Given the description of an element on the screen output the (x, y) to click on. 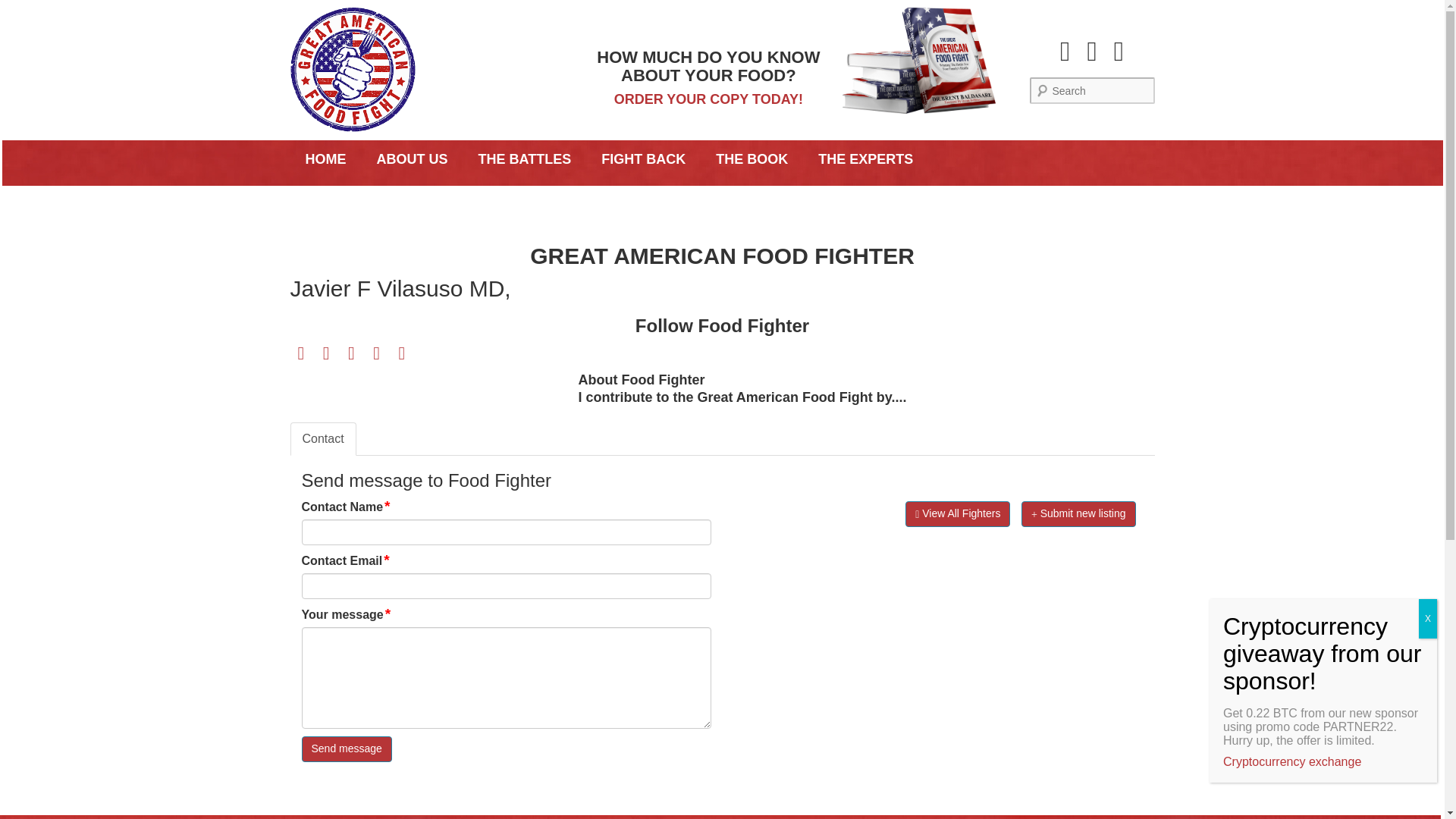
Contact (322, 439)
Send message (346, 749)
ABOUT US (412, 159)
Send message (346, 749)
ORDER YOUR COPY TODAY! (708, 99)
THE BOOK (751, 159)
View All Fighters (957, 514)
FIGHT BACK (643, 159)
THE BATTLES (524, 159)
X (1427, 618)
HOME (325, 159)
Submit new listing (1078, 514)
THE EXPERTS (865, 159)
Search (25, 10)
GREAT AMERICAN FOOD FIGHTERS (424, 197)
